Given the description of an element on the screen output the (x, y) to click on. 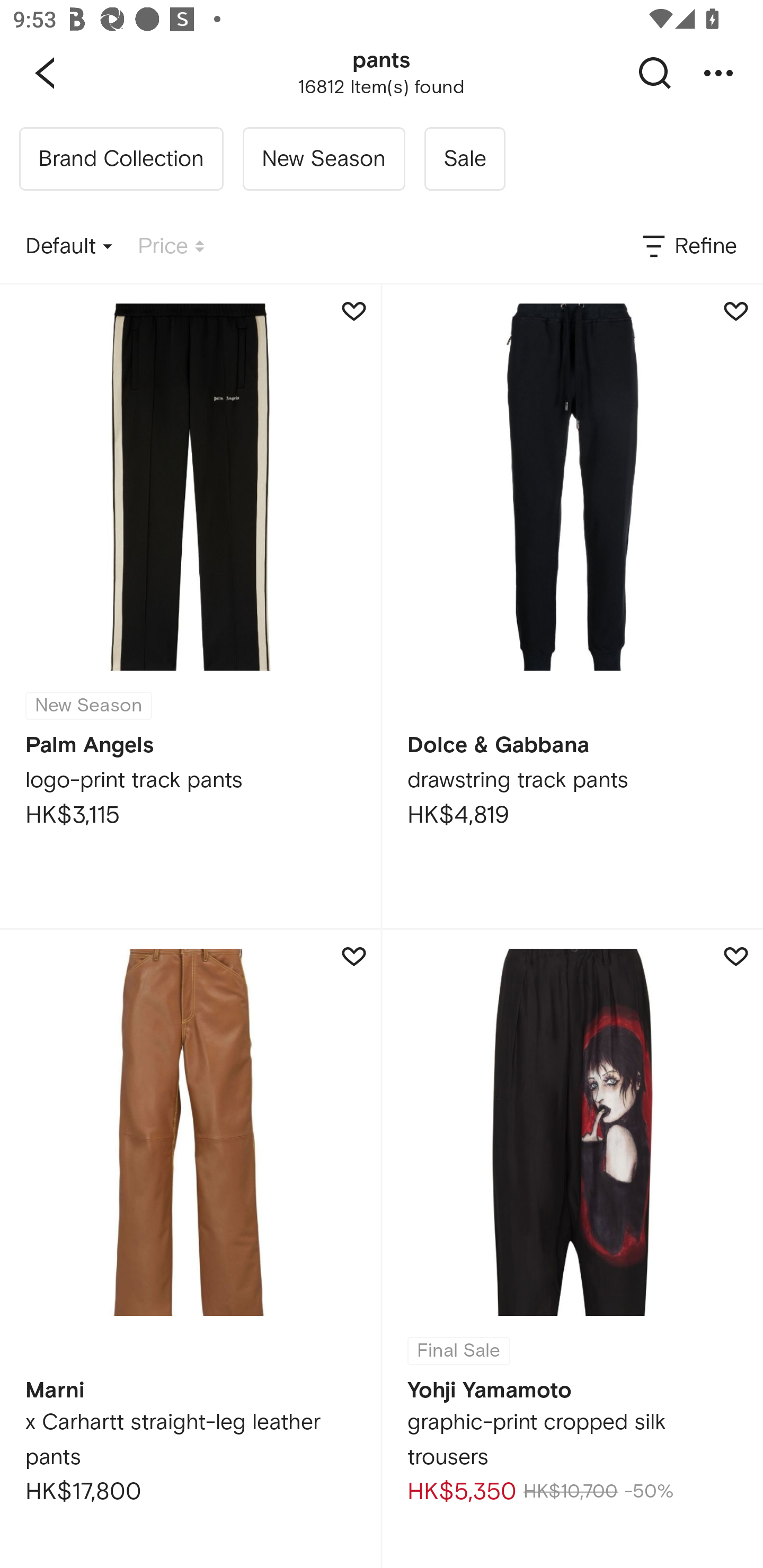
Brand Collection (121, 158)
New Season (323, 158)
Sale (464, 158)
Default (68, 246)
Price (171, 246)
Refine (688, 246)
Dolce & Gabbana drawstring track pants HK$4,819 (572, 605)
